Given the description of an element on the screen output the (x, y) to click on. 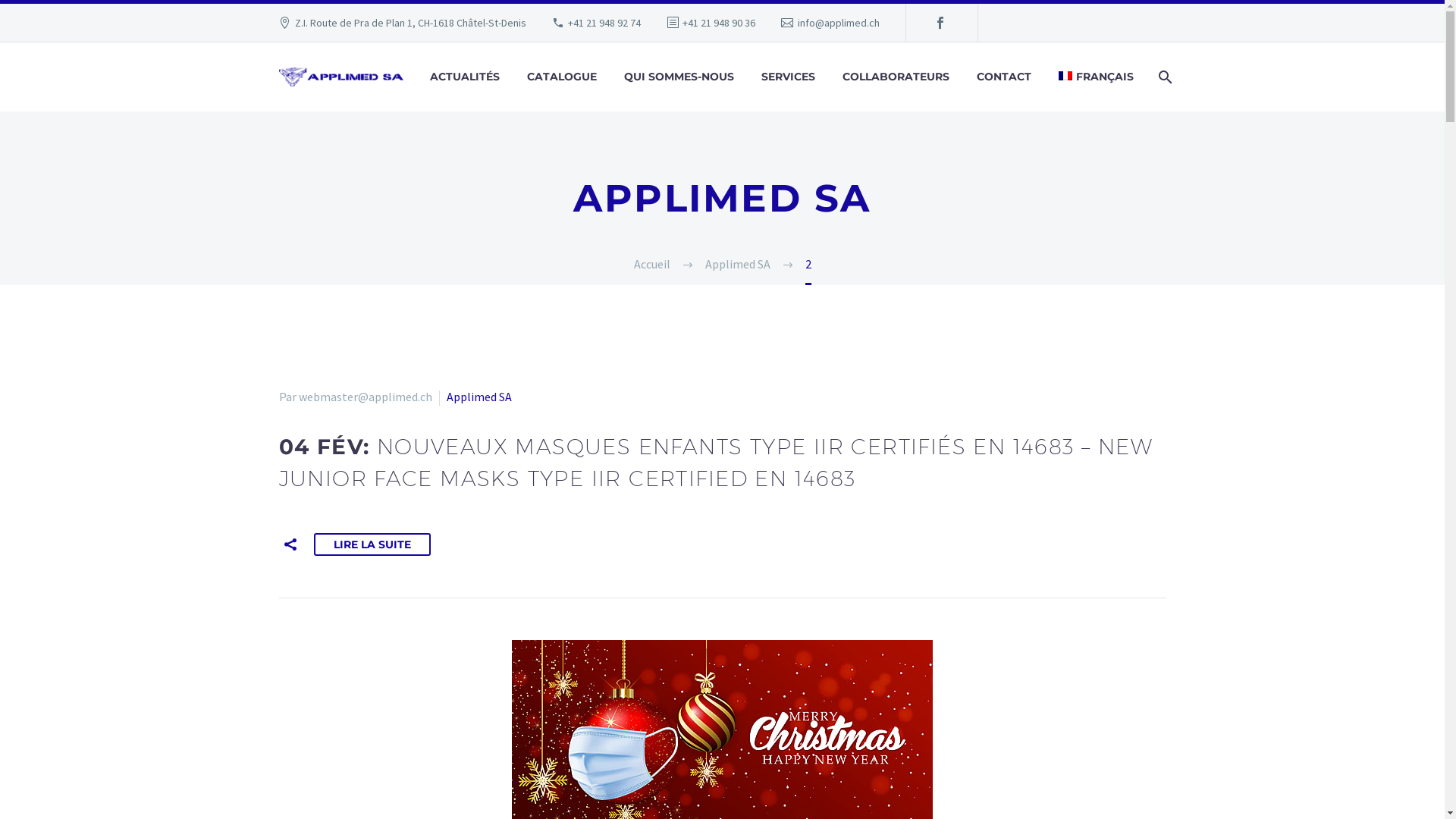
LIRE LA SUITE Element type: text (371, 544)
CONTACT Element type: text (1003, 76)
Accueil Element type: text (651, 263)
Applimed SA Element type: text (478, 396)
Applimed SA Element type: text (737, 263)
Facebook Element type: hover (939, 22)
QUI SOMMES-NOUS Element type: text (678, 76)
SERVICES Element type: text (787, 76)
s Element type: text (1313, 157)
CATALOGUE Element type: text (561, 76)
info@applimed.ch Element type: text (838, 22)
COLLABORATEURS Element type: text (895, 76)
+41 21 948 92 74 Element type: text (603, 22)
